Given the description of an element on the screen output the (x, y) to click on. 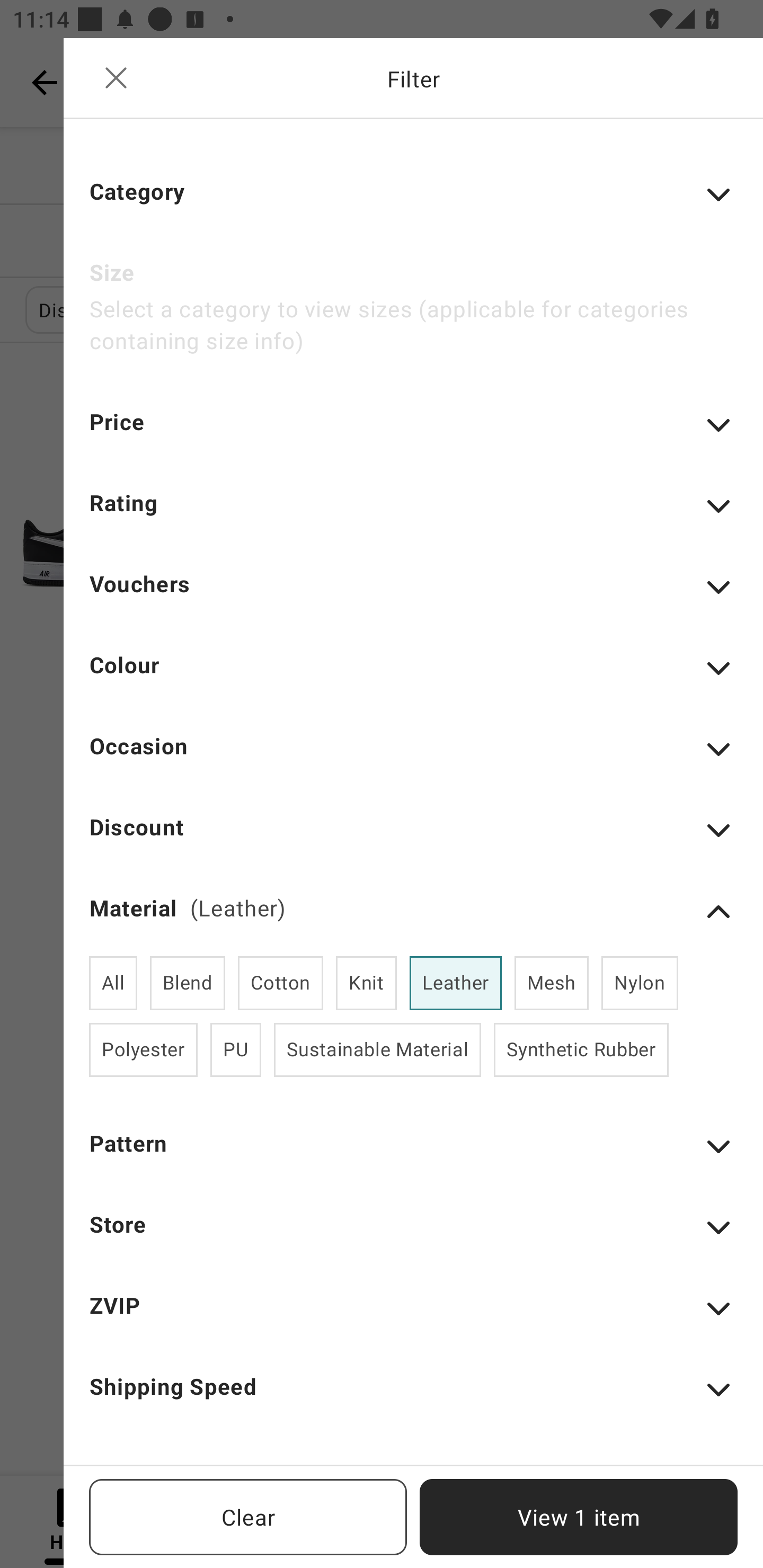
Category (413, 203)
Price (413, 434)
Rating (413, 514)
Vouchers (413, 595)
Colour (413, 677)
Occasion (413, 757)
Discount (413, 839)
Material (Leather) (413, 911)
All (113, 982)
Blend (187, 982)
Cotton (280, 982)
Knit (365, 982)
Leather (455, 982)
Mesh (551, 982)
Nylon (639, 982)
Polyester (143, 1049)
PU (235, 1049)
Sustainable Material (377, 1049)
Synthetic Rubber (580, 1049)
Pattern (413, 1155)
Store (413, 1235)
ZVIP (413, 1317)
Shipping Speed (413, 1398)
Clear (247, 1516)
View 1 item (578, 1516)
